Given the description of an element on the screen output the (x, y) to click on. 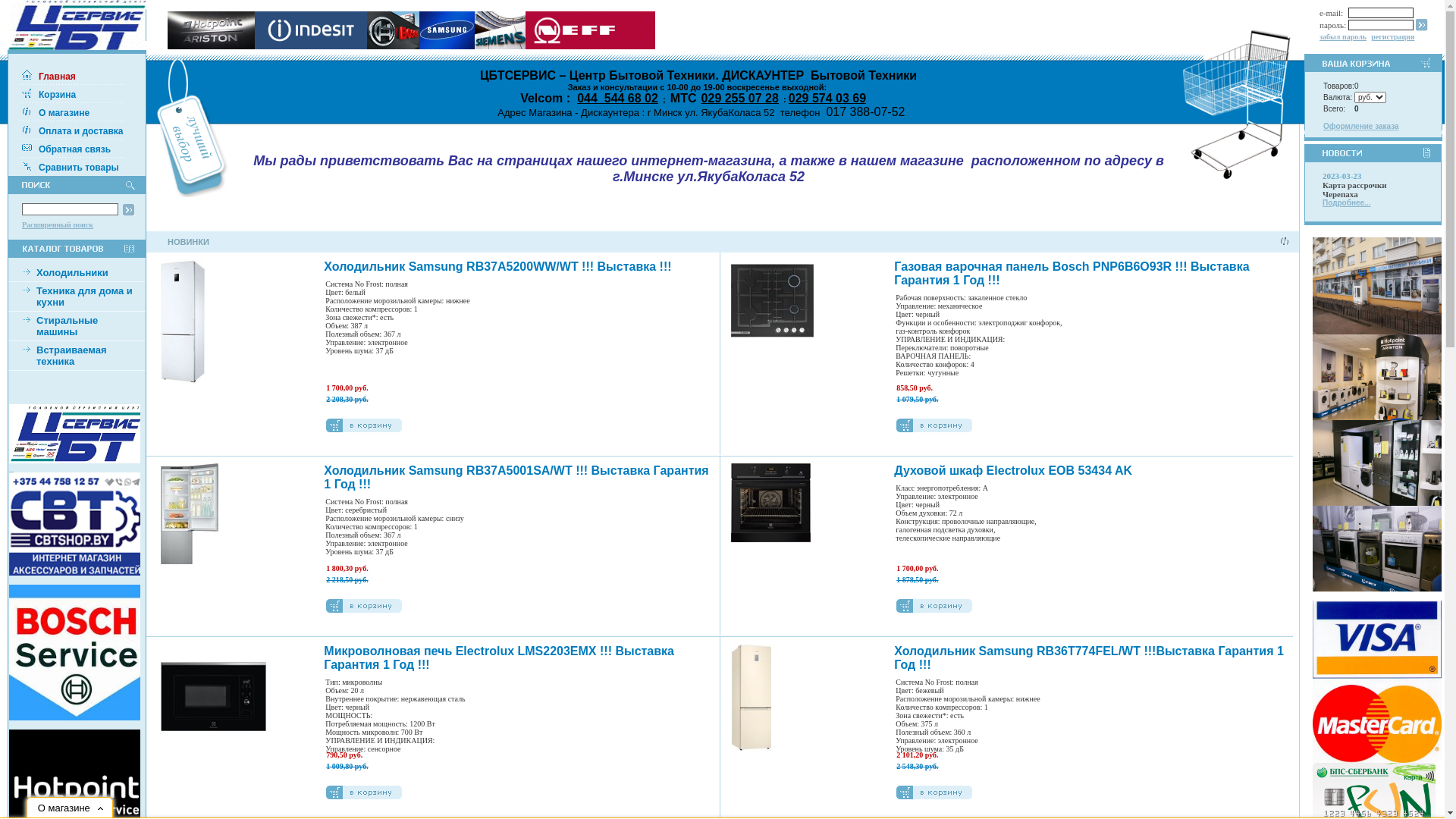
   Element type: text (78, 463)
029 574 03 69 Element type: text (827, 97)
029 255 07 28 Element type: text (739, 97)
044  544 68 02 Element type: text (617, 97)
